Given the description of an element on the screen output the (x, y) to click on. 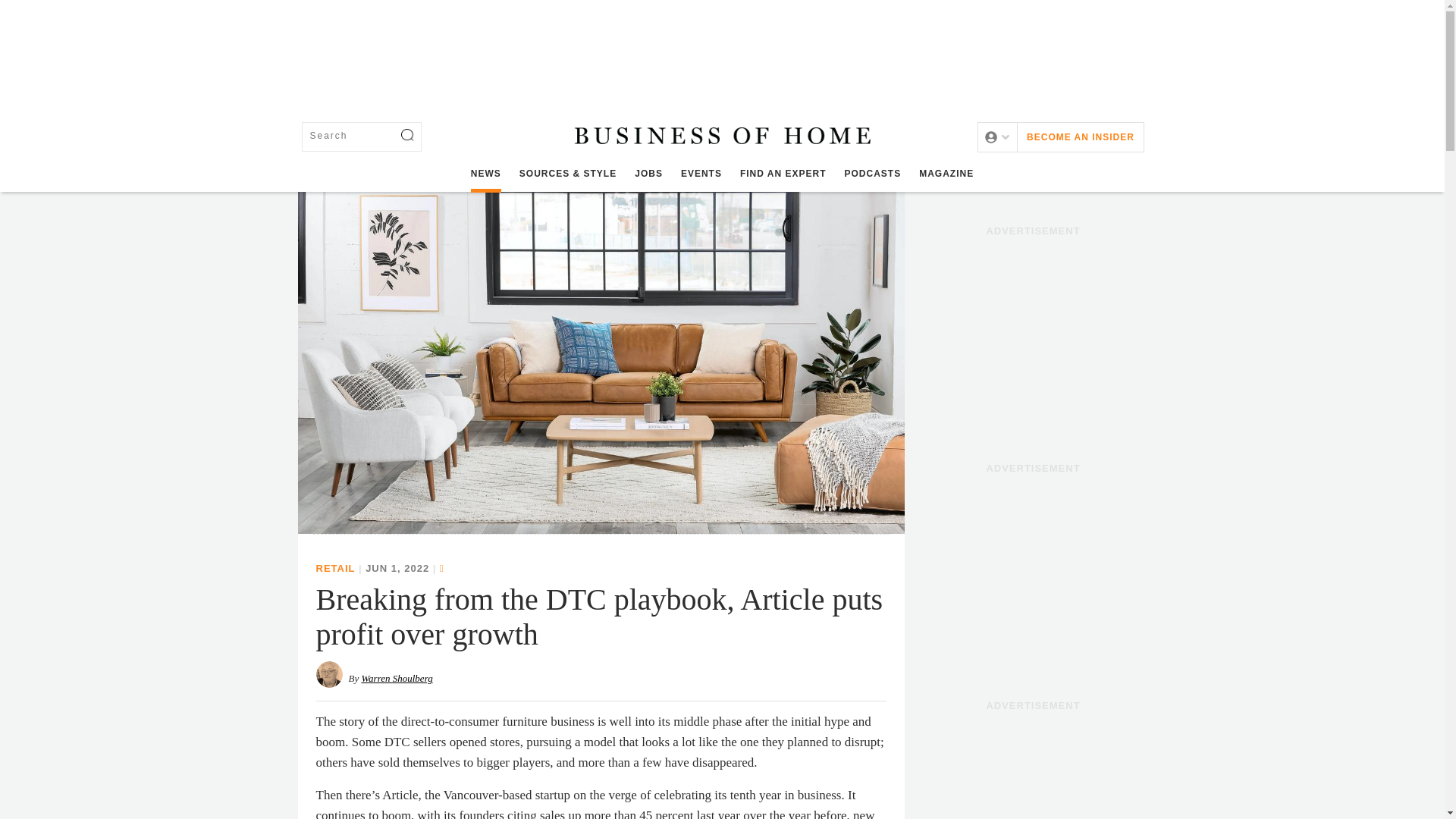
3rd party ad content (1032, 338)
3rd party ad content (1032, 768)
3rd party ad content (721, 50)
3rd party ad content (1032, 575)
NEWS (485, 173)
